Given the description of an element on the screen output the (x, y) to click on. 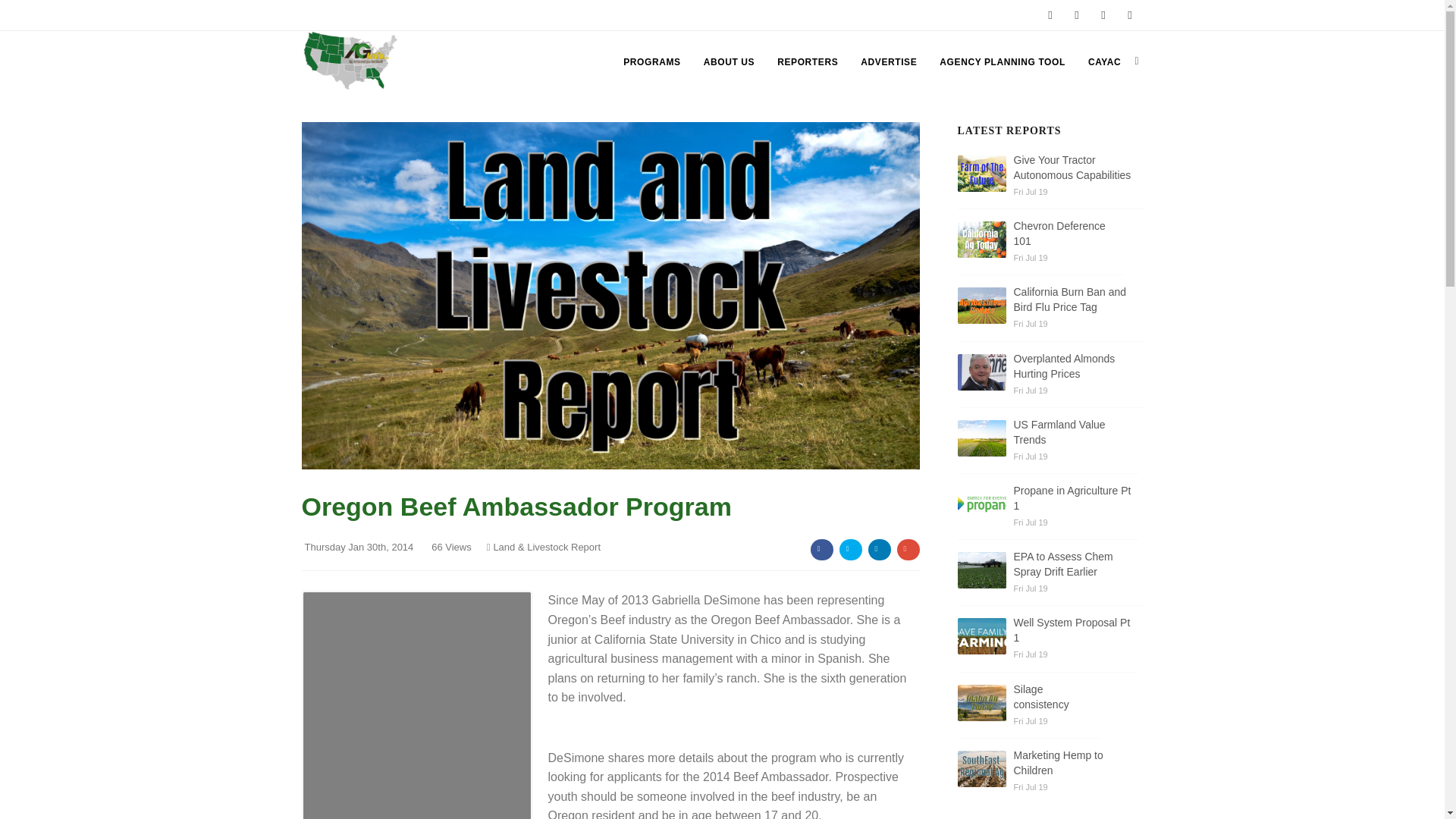
ABOUT US (728, 62)
PROGRAMS (651, 62)
